Given the description of an element on the screen output the (x, y) to click on. 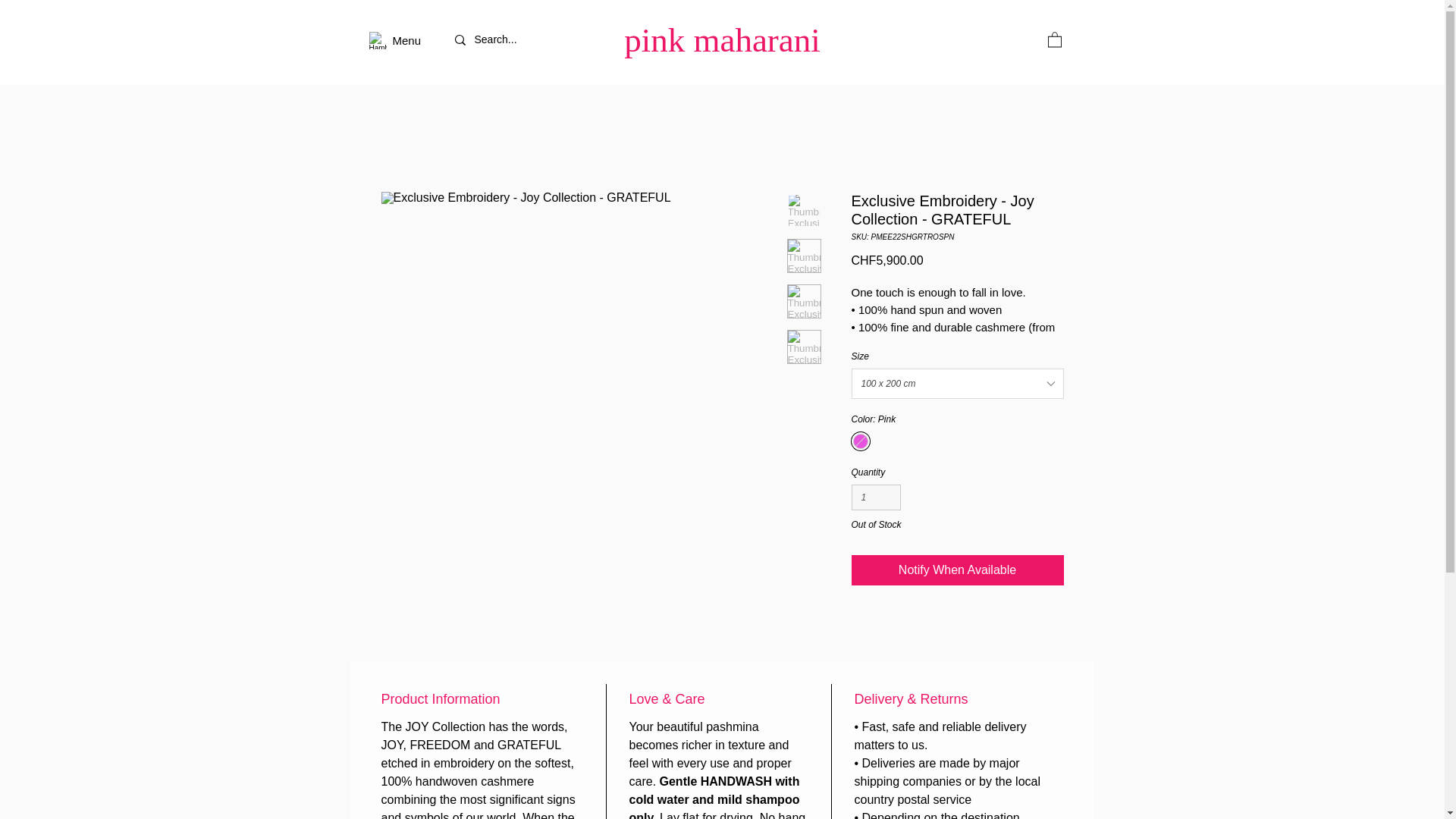
Notify When Available (956, 570)
1 (874, 497)
Menu (407, 40)
pink maharani (722, 39)
100 x 200 cm (956, 383)
